Given the description of an element on the screen output the (x, y) to click on. 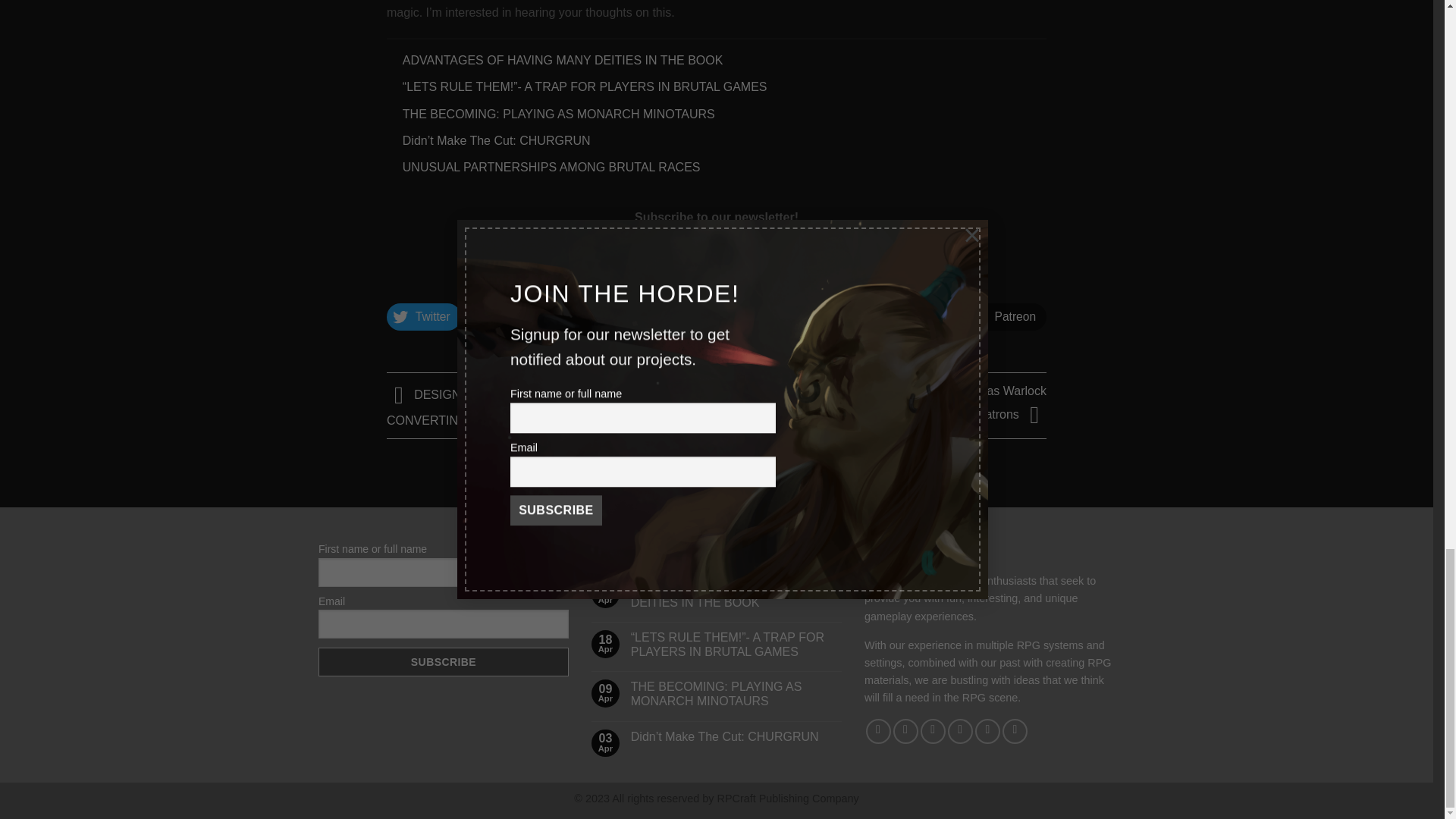
Patreon (1006, 316)
THE BECOMING: PLAYING AS MONARCH MINOTAURS (558, 113)
Discord (619, 316)
THE BECOMING: PLAYING AS MONARCH MINOTAURS (735, 693)
ADVANTAGES OF HAVING MANY DEITIES IN THE BOOK (563, 60)
ADVANTAGES OF HAVING MANY DEITIES IN THE BOOK (735, 594)
Follow on Facebook (878, 731)
Subscribe (834, 261)
Twitch (822, 316)
TikTok (912, 316)
YouTube (520, 316)
Follow on Instagram (905, 731)
Subscribe (834, 261)
Instagram (722, 316)
Twitter (424, 316)
